Given the description of an element on the screen output the (x, y) to click on. 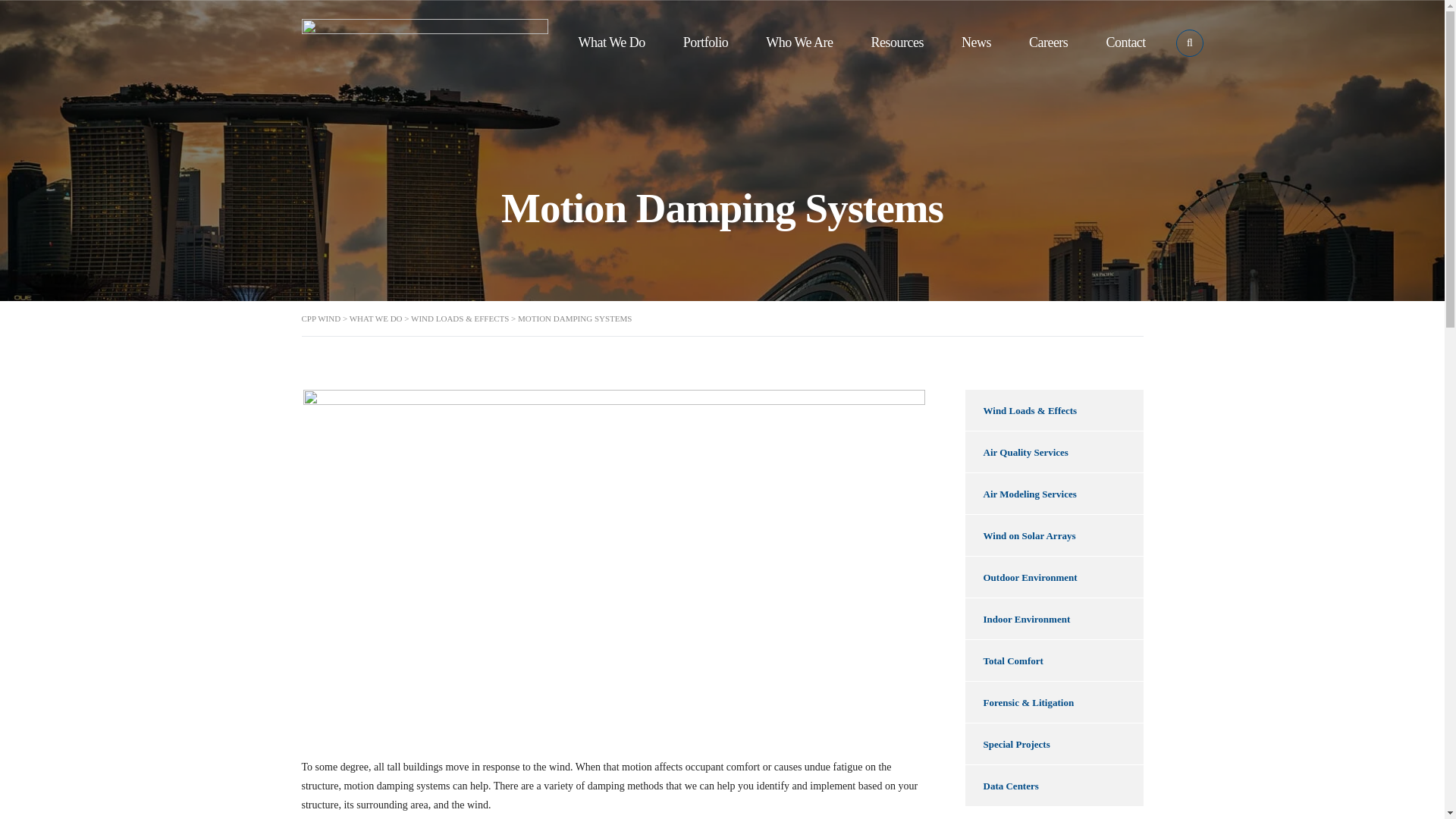
Who We Are (798, 42)
Go to CPP Wind. (320, 317)
Air Quality Services (1052, 451)
Air Modeling Services (1052, 493)
Go to What We Do. (376, 317)
Contact (1125, 42)
News (976, 42)
Careers (1048, 42)
Wind on Solar Arrays (1052, 535)
What We Do (611, 42)
CPP WIND (320, 317)
WHAT WE DO (376, 317)
Resources (896, 42)
Portfolio (705, 42)
